Given the description of an element on the screen output the (x, y) to click on. 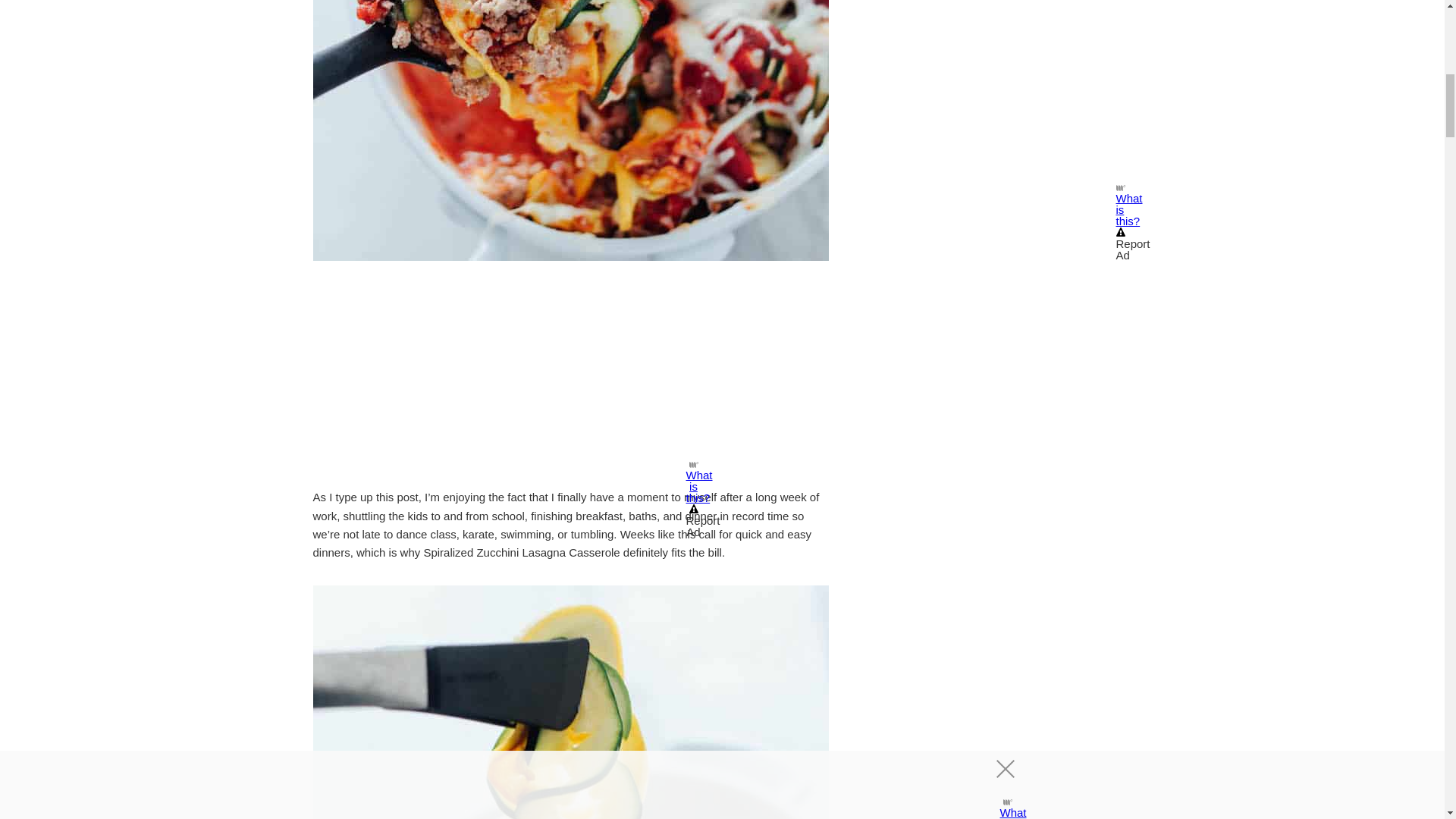
3rd party ad content (570, 378)
3rd party ad content (1017, 90)
